Given the description of an element on the screen output the (x, y) to click on. 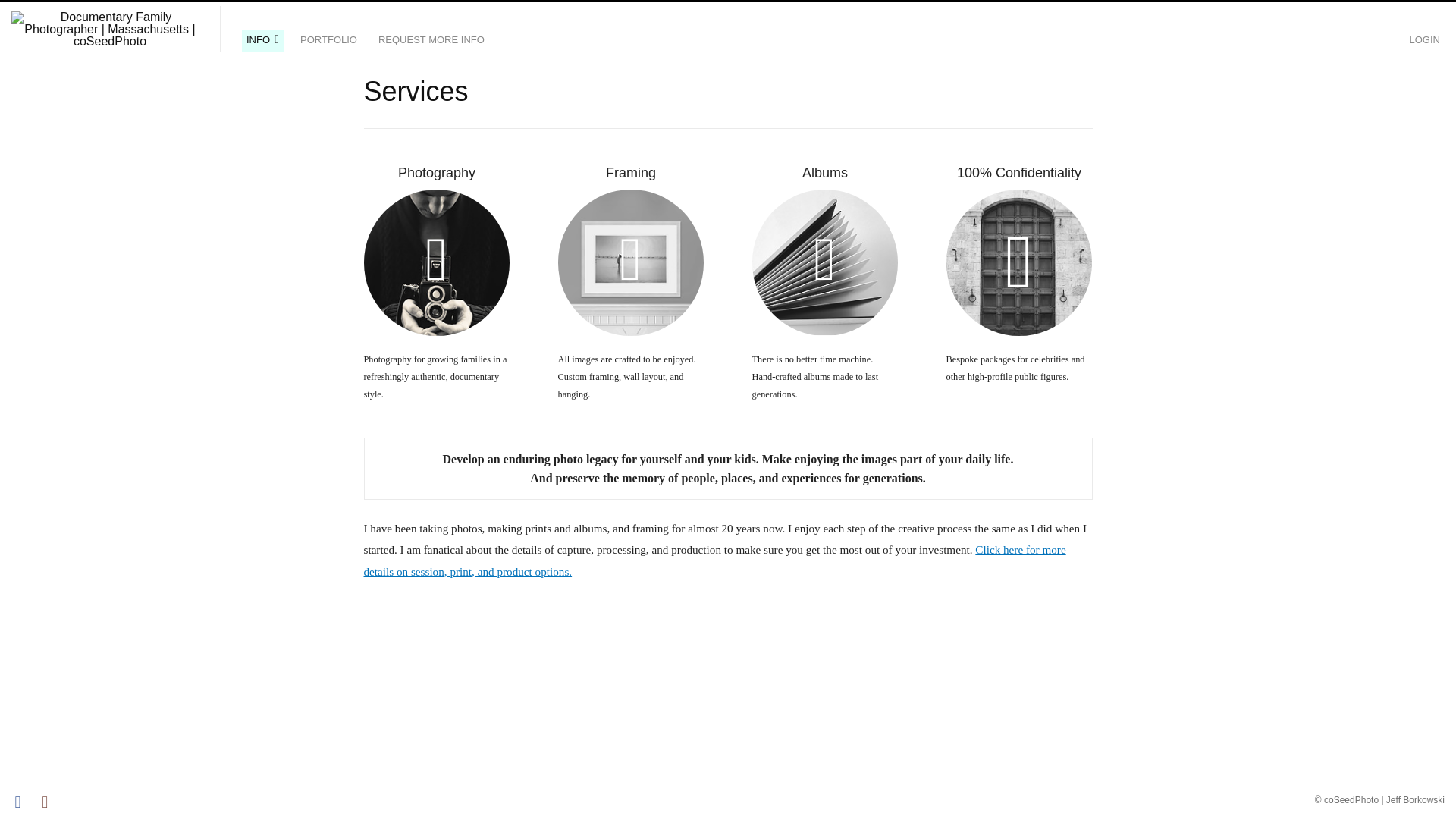
REQUEST MORE INFO (431, 40)
Connect on Instagram (50, 802)
PORTFOLIO (328, 40)
LOGIN (1424, 40)
INFO (262, 40)
Connect on Facebook (22, 802)
